Given the description of an element on the screen output the (x, y) to click on. 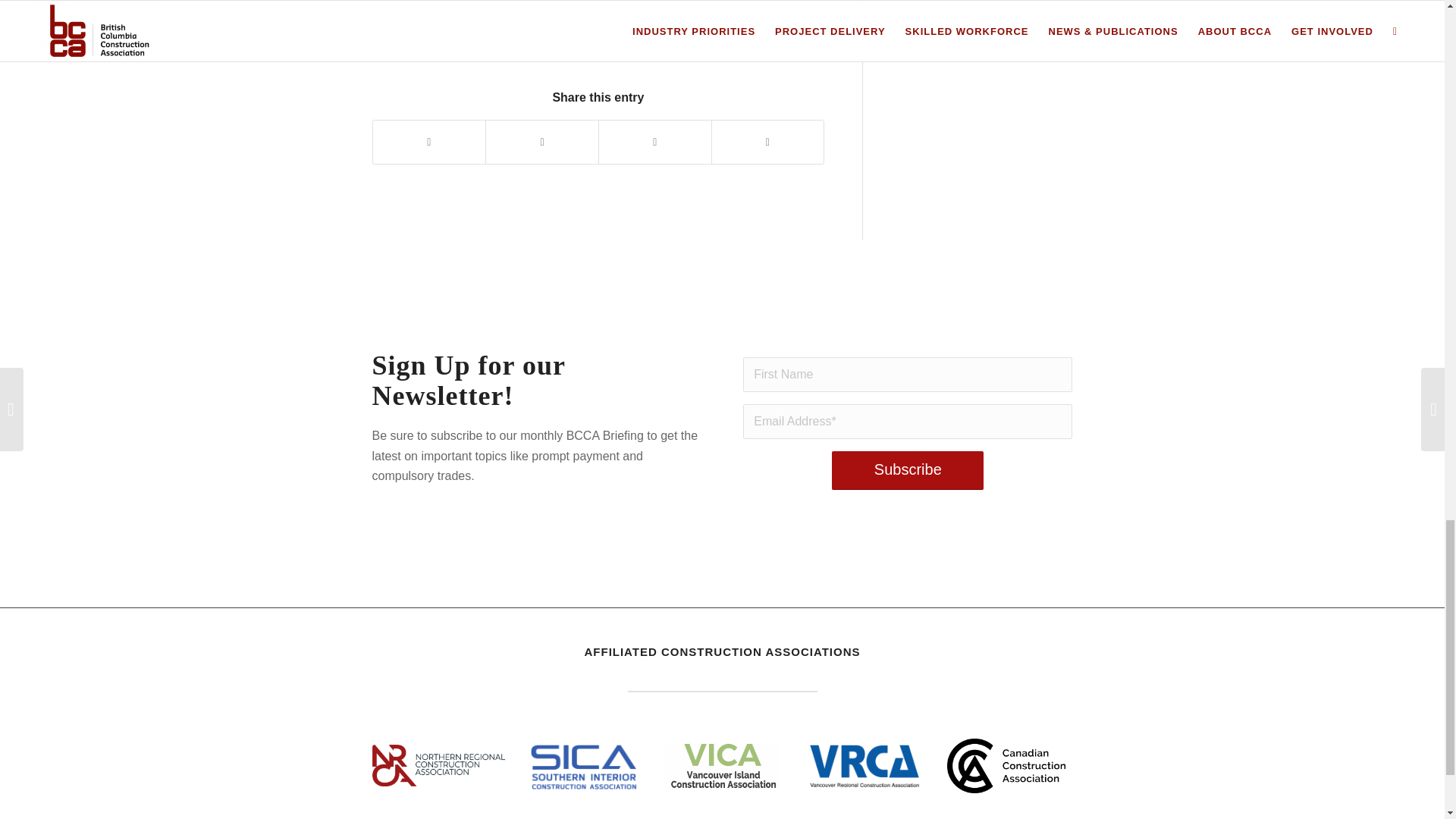
VRCA-Logo-RGB vertical (864, 765)
Subscribe (907, 470)
